Given the description of an element on the screen output the (x, y) to click on. 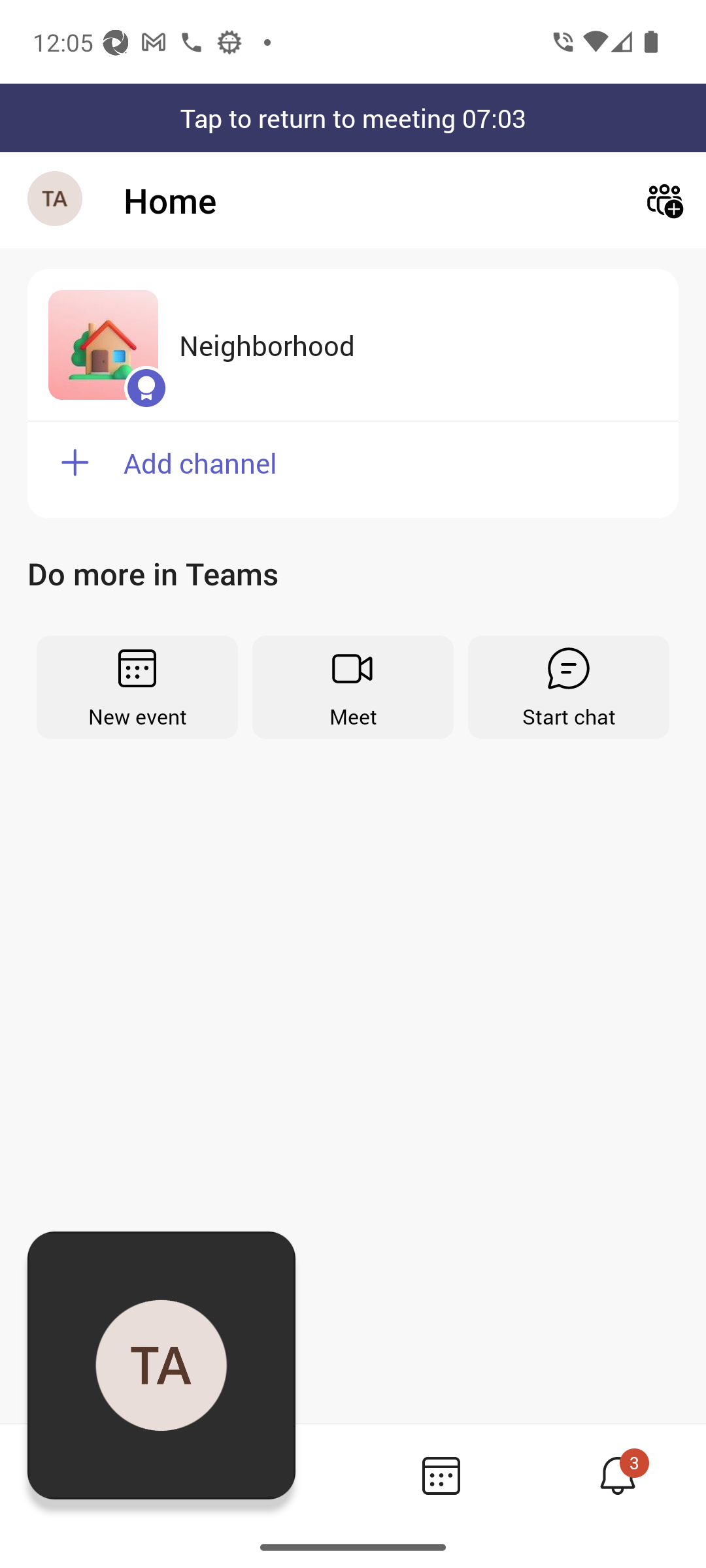
Tap to return to meeting 07:03 (353, 117)
Create new community (664, 199)
Navigation (56, 199)
Neighborhood Community. Neighborhood (352, 345)
New event (136, 686)
Meet (352, 686)
Start chat (568, 686)
Calendar tab,3 of 4, not selected (441, 1475)
Activity tab,4 of 4, not selected, 3 new 3 (617, 1475)
